Given the description of an element on the screen output the (x, y) to click on. 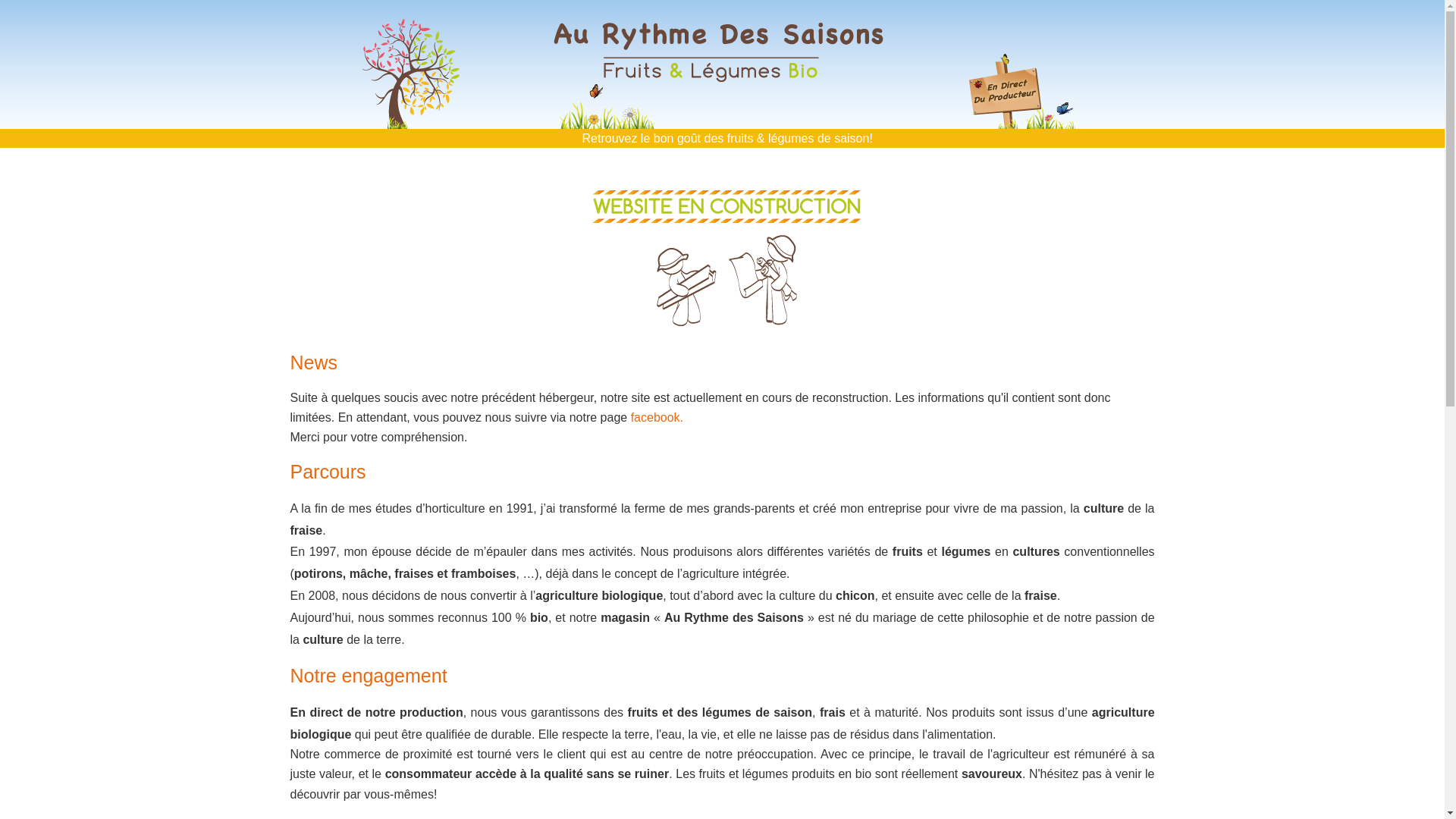
facebook. Element type: text (656, 417)
